Given the description of an element on the screen output the (x, y) to click on. 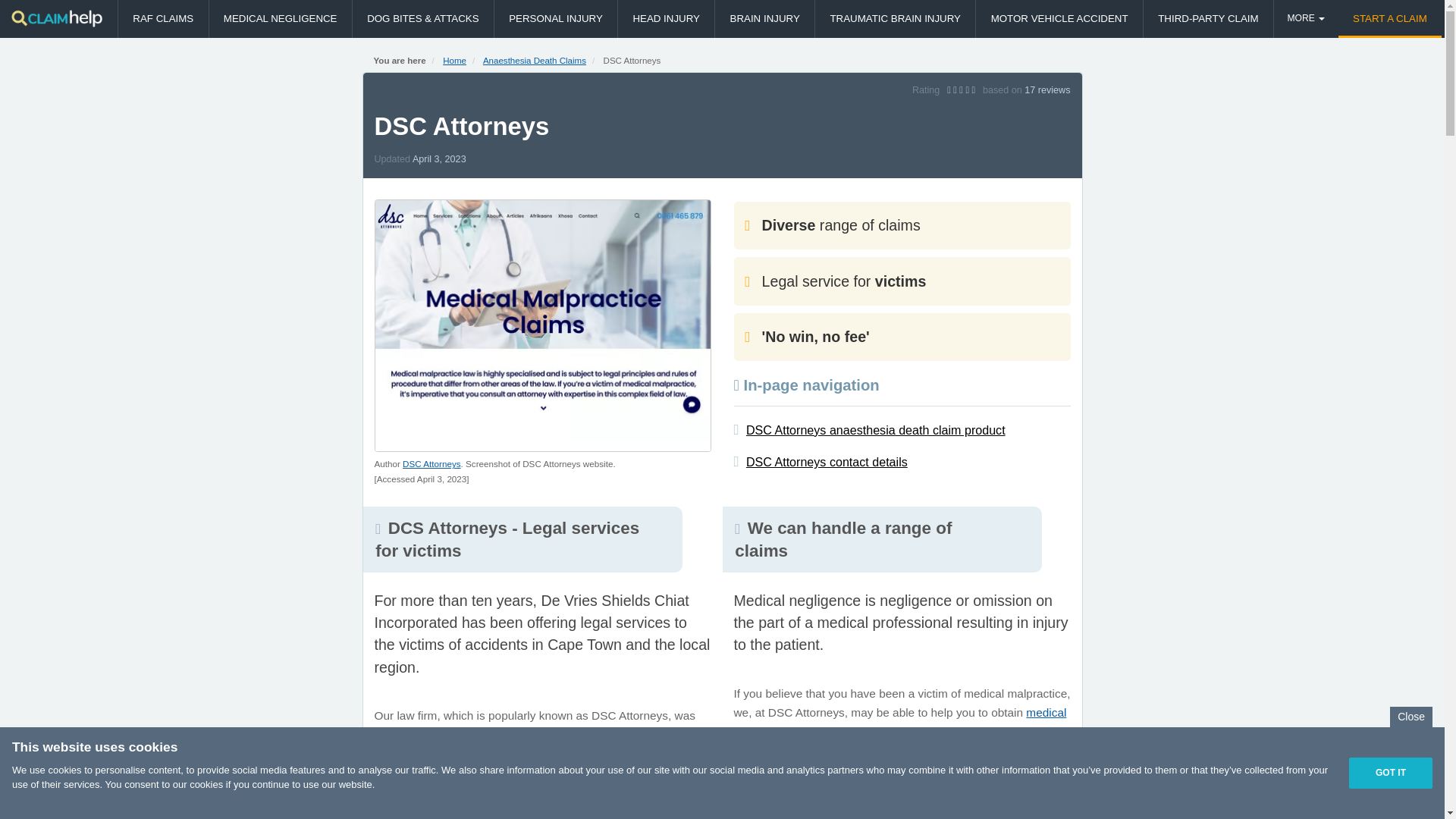
Head Injury (665, 18)
Traumatic Brain Injury (895, 18)
HEAD INJURY (665, 18)
THIRD-PARTY CLAIM (1207, 18)
Anaesthesia Death Claims (534, 60)
Claim for Compensation in South Africa (56, 18)
Third-party Claim (1207, 18)
Dog Bites (422, 18)
DSC Attorneys (431, 463)
Start a Claim (1389, 18)
START A CLAIM (1389, 18)
Motor Vehicle Accident (1058, 18)
Home (453, 60)
DSC Attorneys anaesthesia death claim product (875, 429)
Personal Injury Lawyers (556, 18)
